Given the description of an element on the screen output the (x, y) to click on. 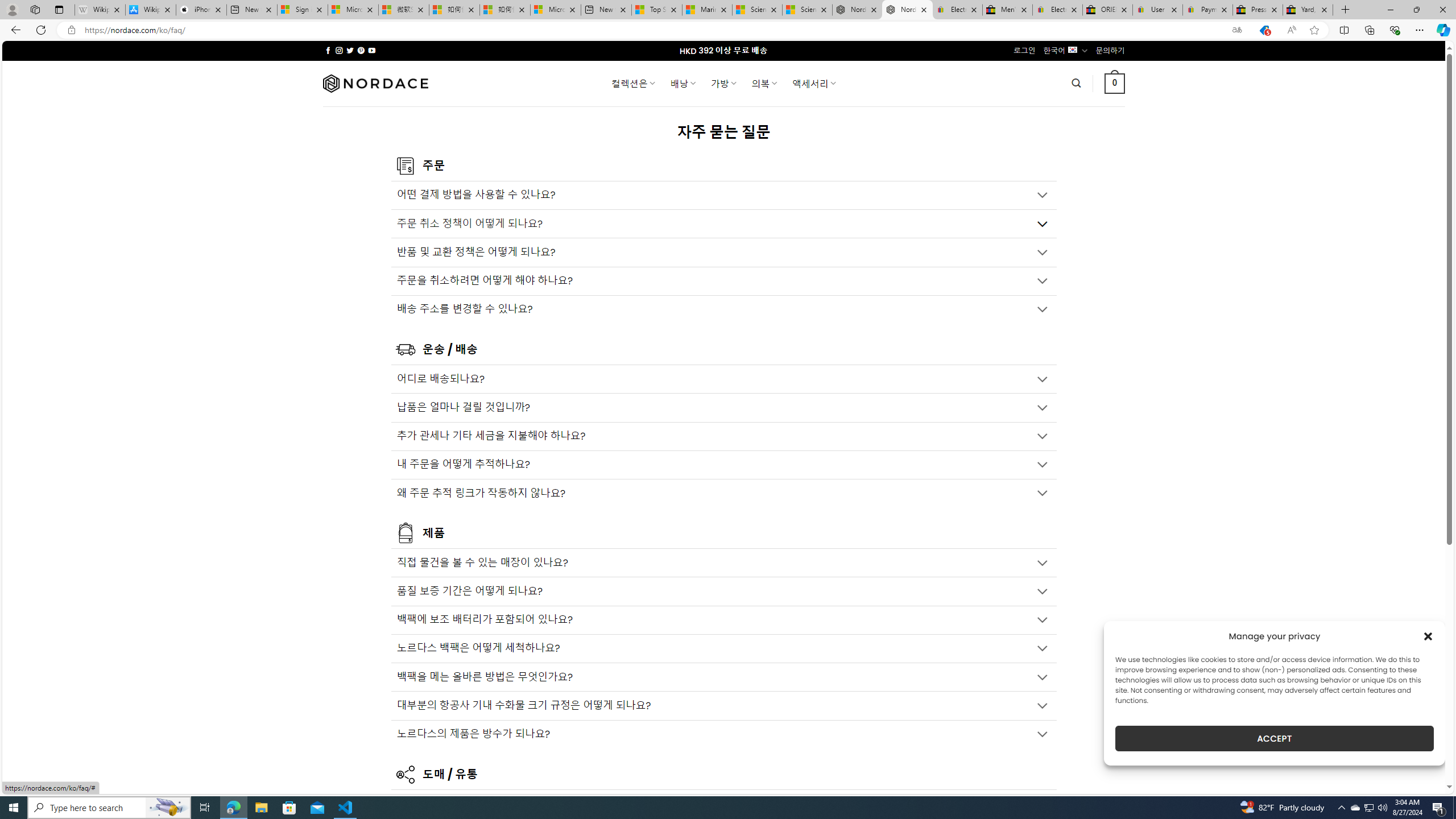
This site has coupons! Shopping in Microsoft Edge, 5 (1263, 29)
Yard, Garden & Outdoor Living (1308, 9)
ACCEPT (1274, 738)
Follow on Pinterest (360, 50)
